Given the description of an element on the screen output the (x, y) to click on. 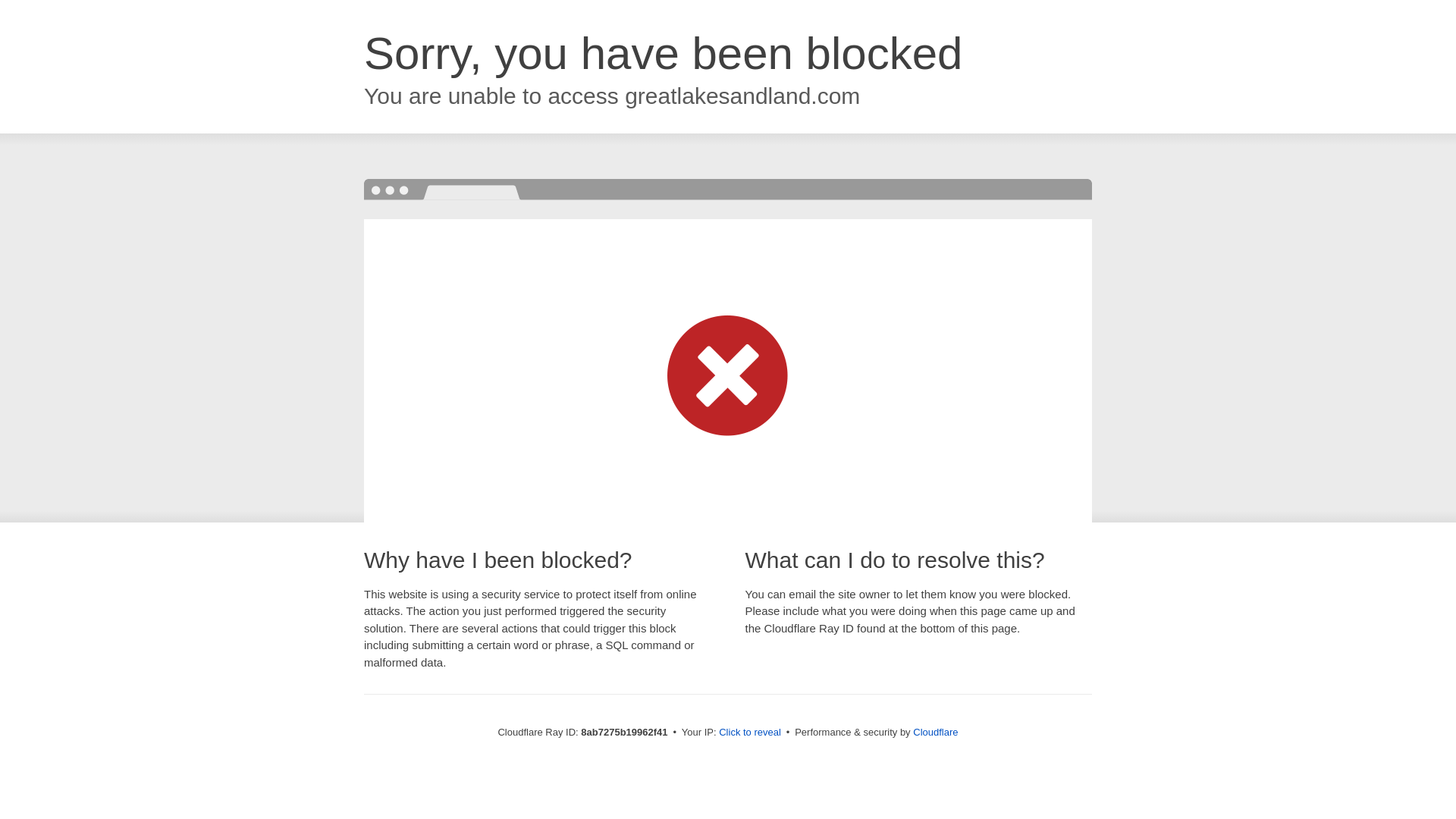
Click to reveal (749, 732)
Cloudflare (935, 731)
